Given the description of an element on the screen output the (x, y) to click on. 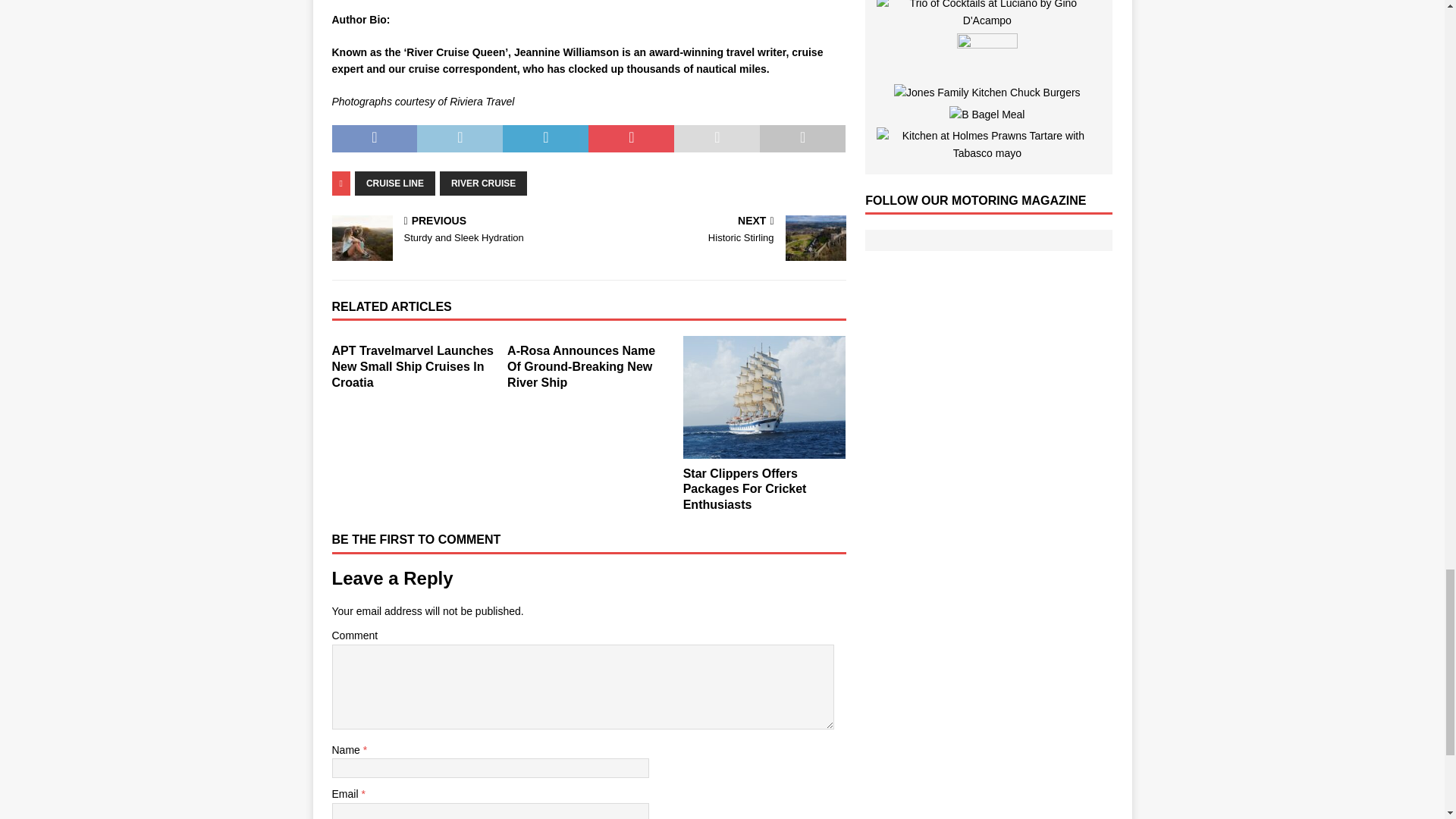
APT Travelmarvel Launches New Small Ship Cruises In Croatia (412, 366)
